Given the description of an element on the screen output the (x, y) to click on. 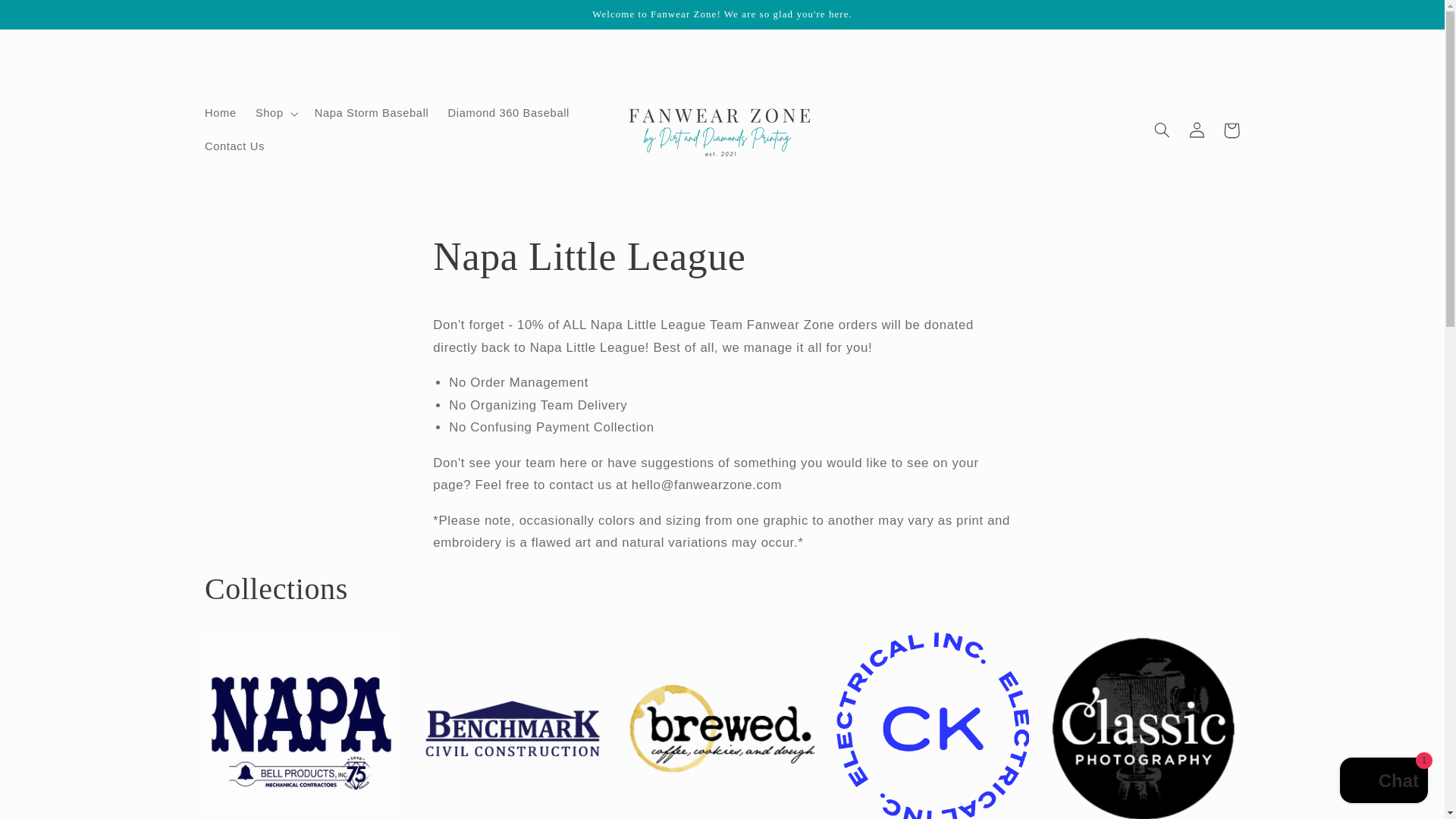
Shopify online store chat (1383, 781)
Skip to content (56, 26)
